Given the description of an element on the screen output the (x, y) to click on. 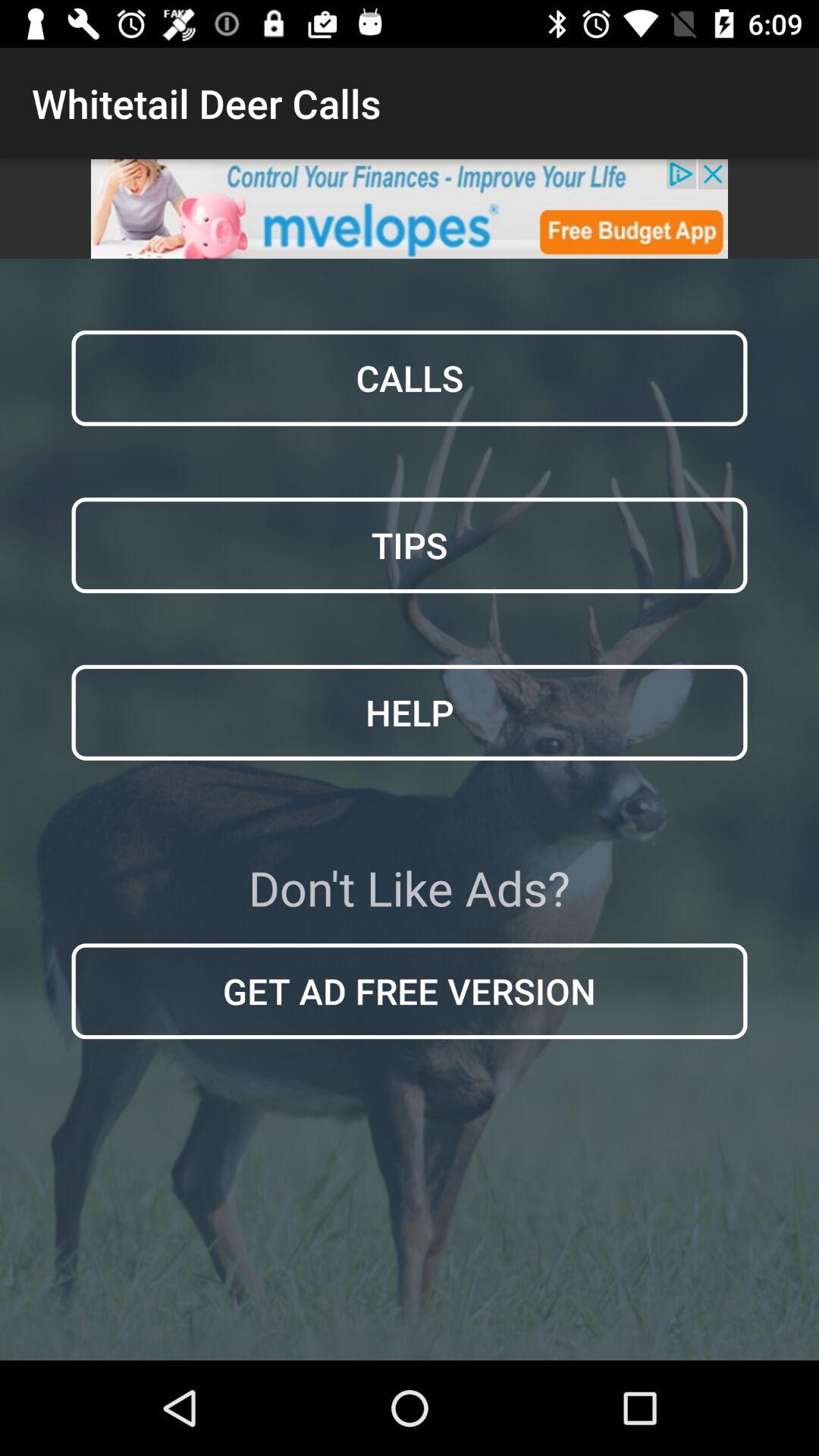
click advertisement banner (409, 208)
